Given the description of an element on the screen output the (x, y) to click on. 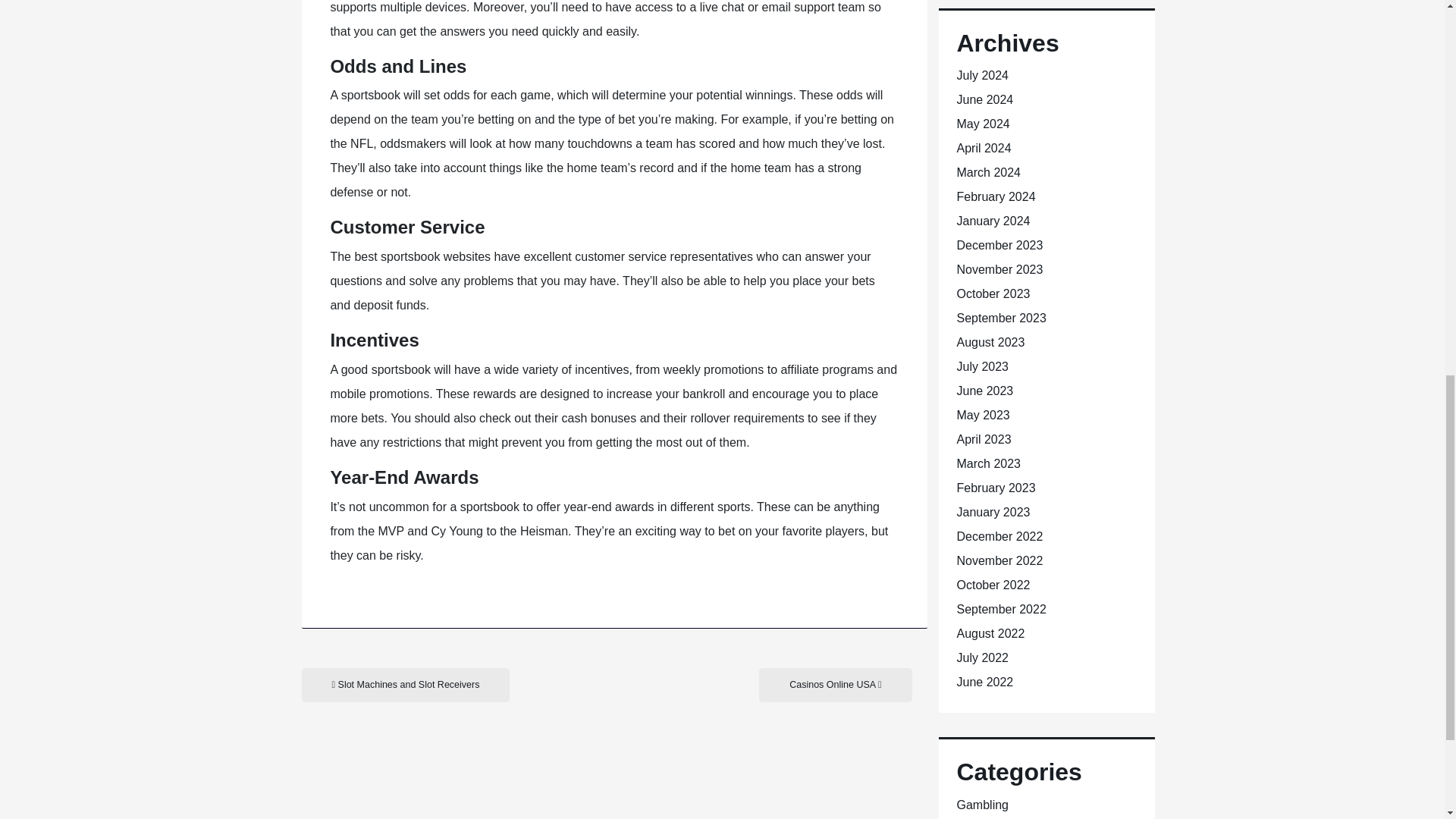
May 2024 (983, 123)
December 2022 (999, 535)
November 2022 (999, 560)
April 2023 (983, 439)
April 2024 (983, 147)
June 2023 (984, 390)
August 2023 (990, 341)
June 2024 (984, 99)
July 2023 (982, 366)
August 2022 (990, 633)
December 2023 (999, 245)
November 2023 (999, 269)
May 2023 (983, 414)
February 2023 (995, 487)
March 2024 (989, 172)
